Given the description of an element on the screen output the (x, y) to click on. 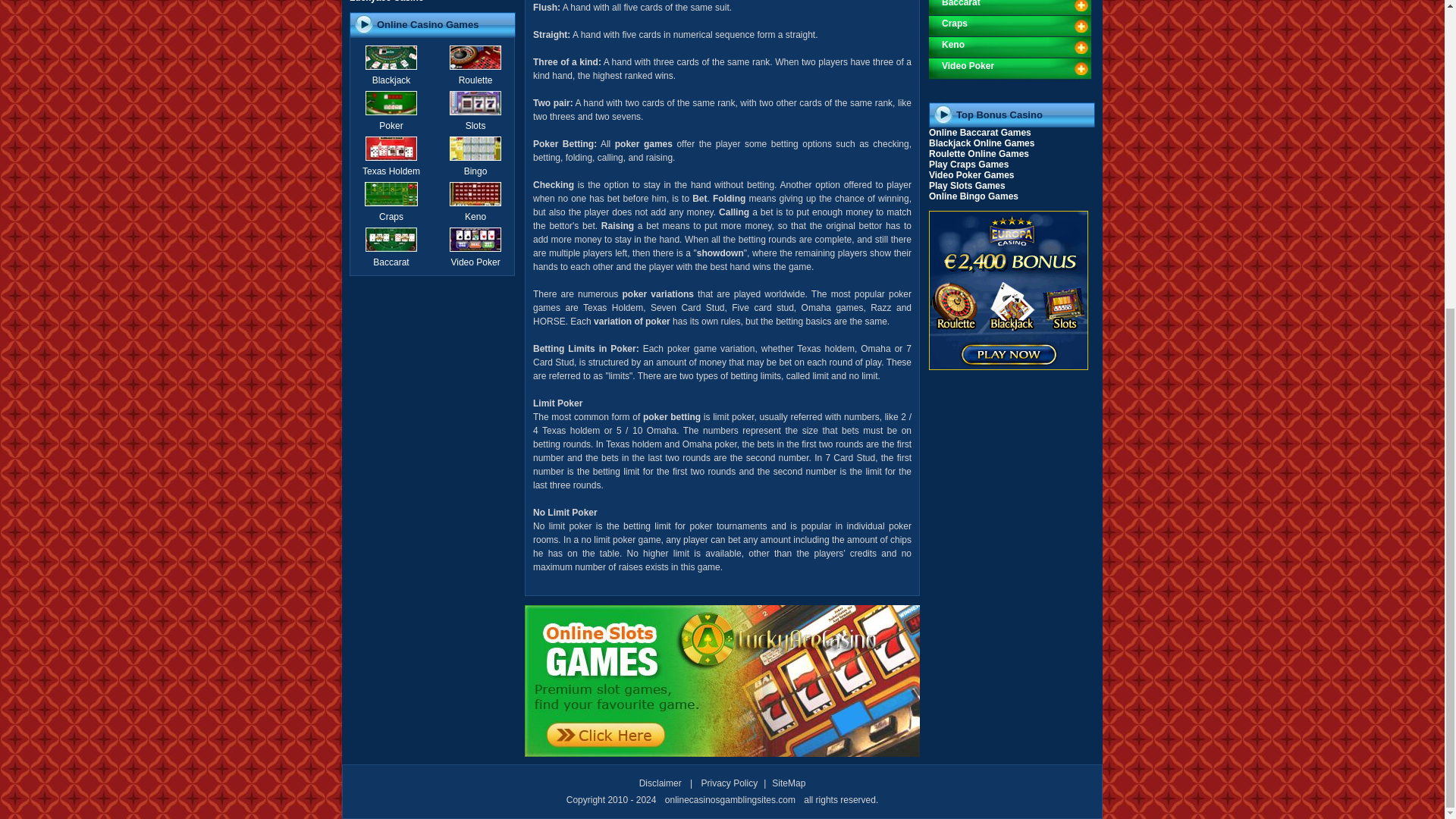
Keno (475, 216)
Basics of the Game (391, 80)
Craps (390, 216)
Blackjack (391, 80)
Baccarat (390, 262)
Slots (475, 125)
Basics of the Game (390, 125)
Basics of the Game (475, 171)
Basics of the Game (390, 262)
Poker (390, 125)
